Given the description of an element on the screen output the (x, y) to click on. 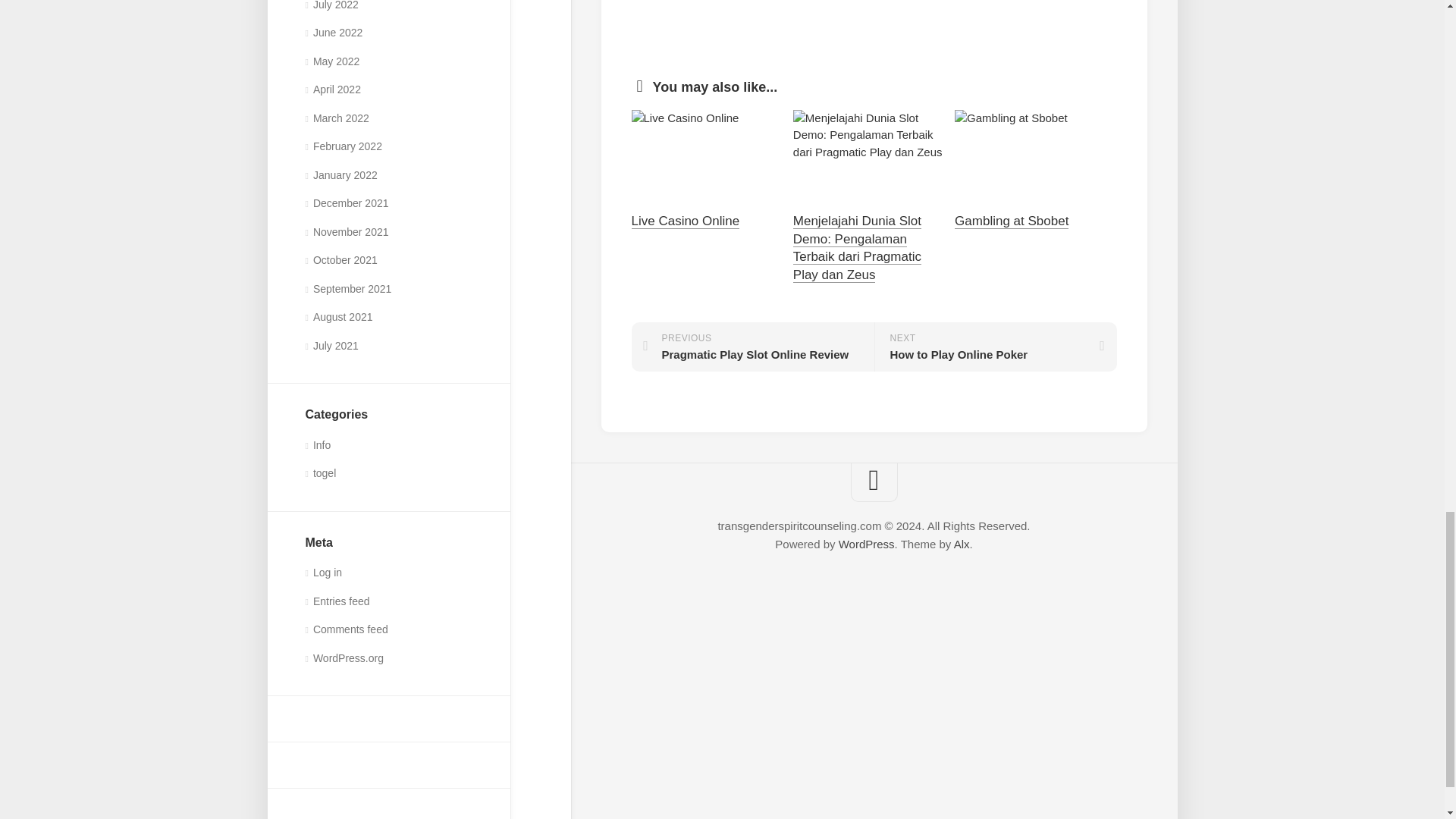
May 2022 (331, 61)
April 2022 (331, 89)
June 2022 (333, 32)
July 2022 (331, 5)
